Given the description of an element on the screen output the (x, y) to click on. 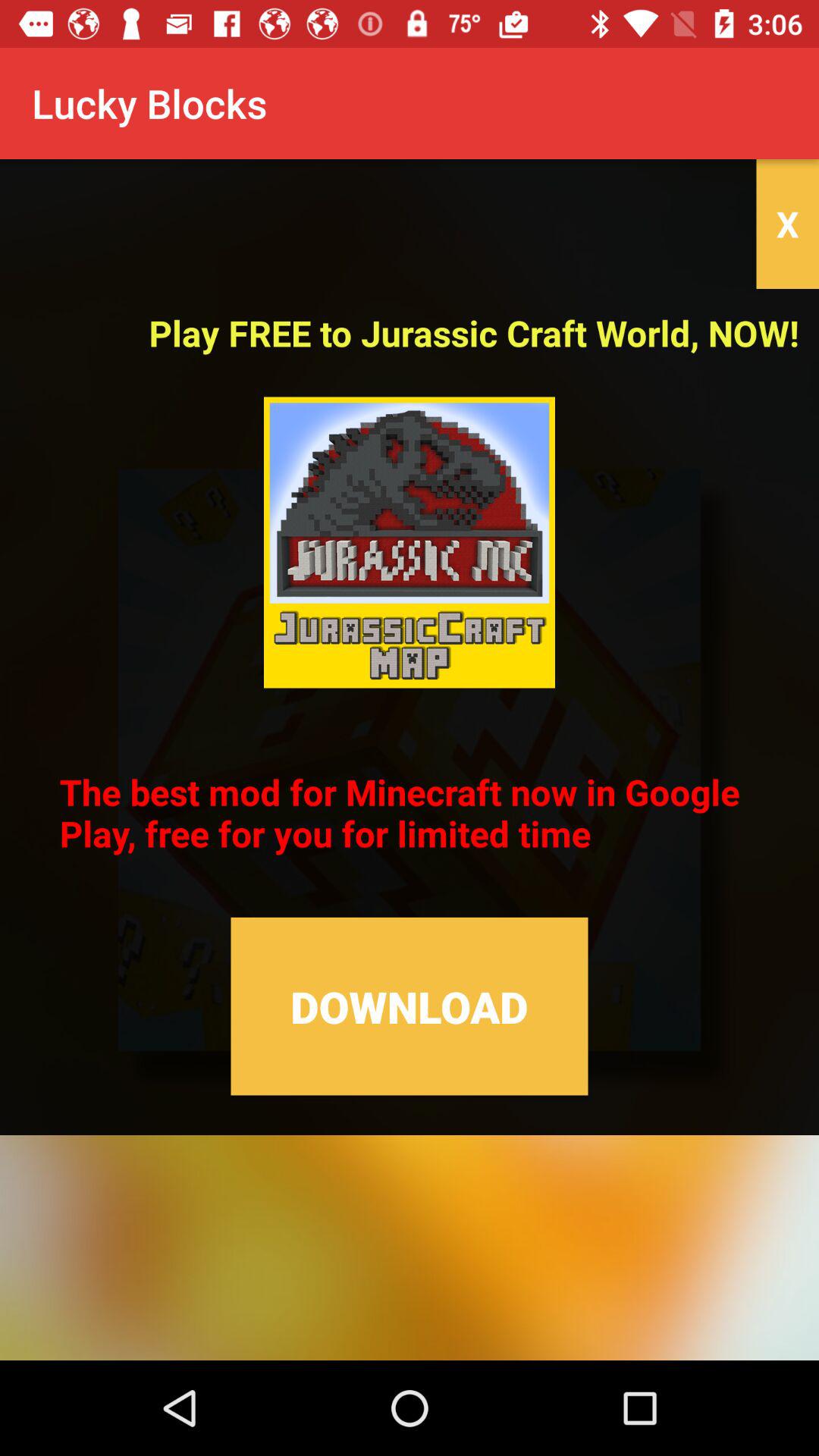
scroll until the download (409, 1006)
